Given the description of an element on the screen output the (x, y) to click on. 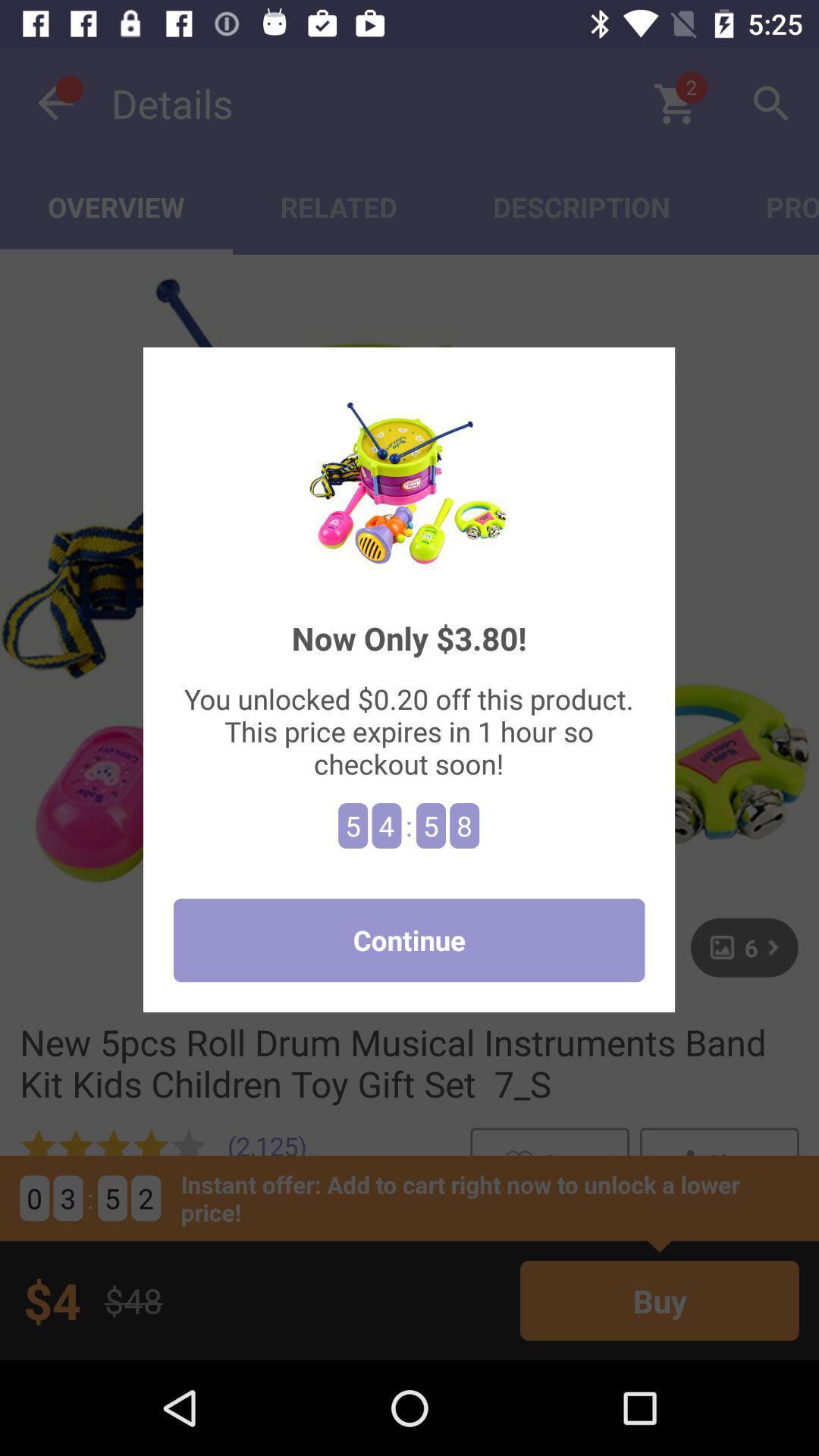
choose the item below the 5 item (408, 940)
